Given the description of an element on the screen output the (x, y) to click on. 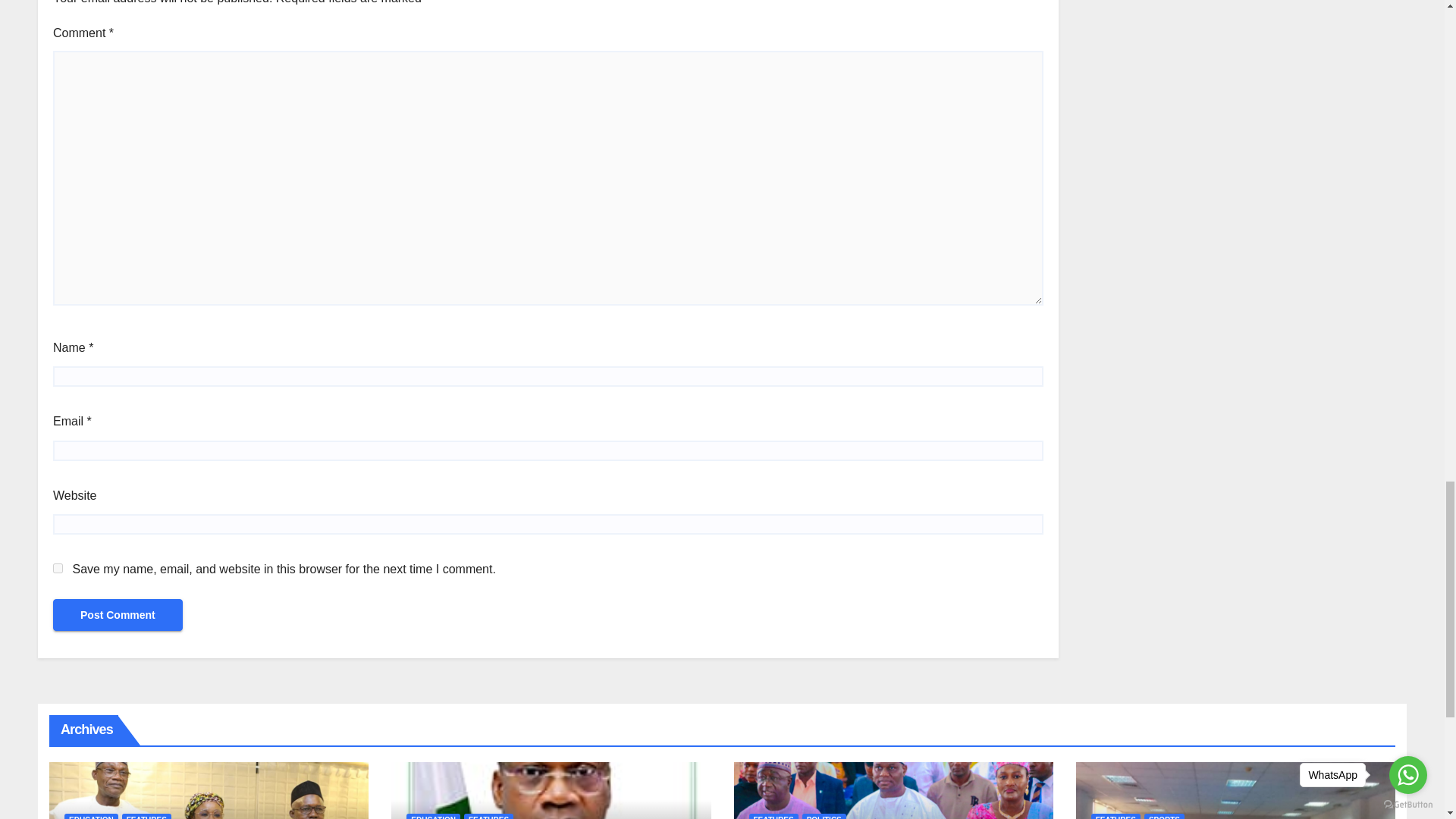
Post Comment (117, 614)
Post Comment (117, 614)
yes (57, 568)
